Given the description of an element on the screen output the (x, y) to click on. 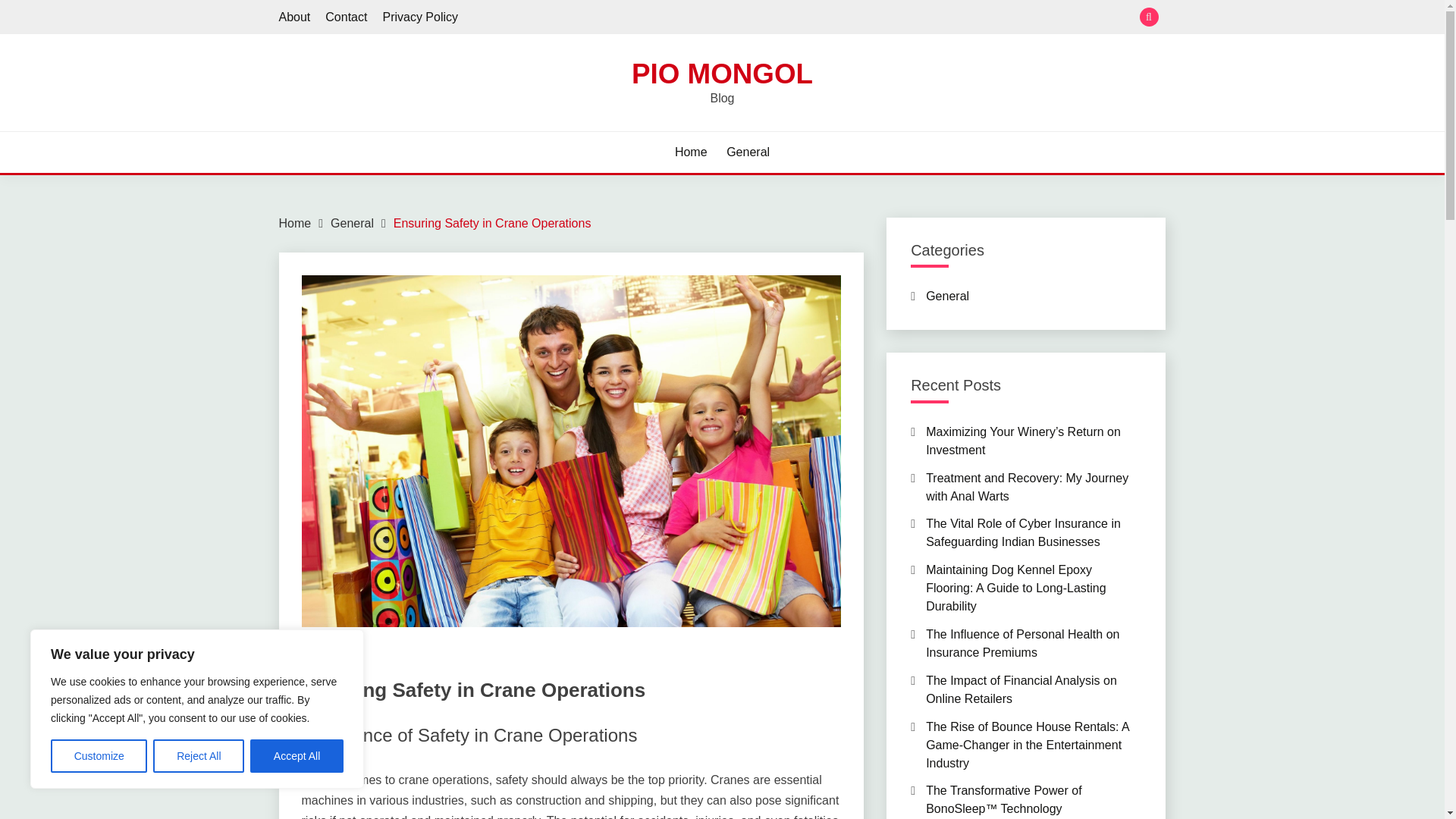
Contact (345, 16)
General (321, 661)
Reject All (198, 756)
Customize (98, 756)
Accept All (296, 756)
Home (295, 223)
Ensuring Safety in Crane Operations (492, 223)
General (352, 223)
About (295, 16)
PIO MONGOL (721, 73)
Home (691, 152)
General (748, 152)
Privacy Policy (419, 16)
